Given the description of an element on the screen output the (x, y) to click on. 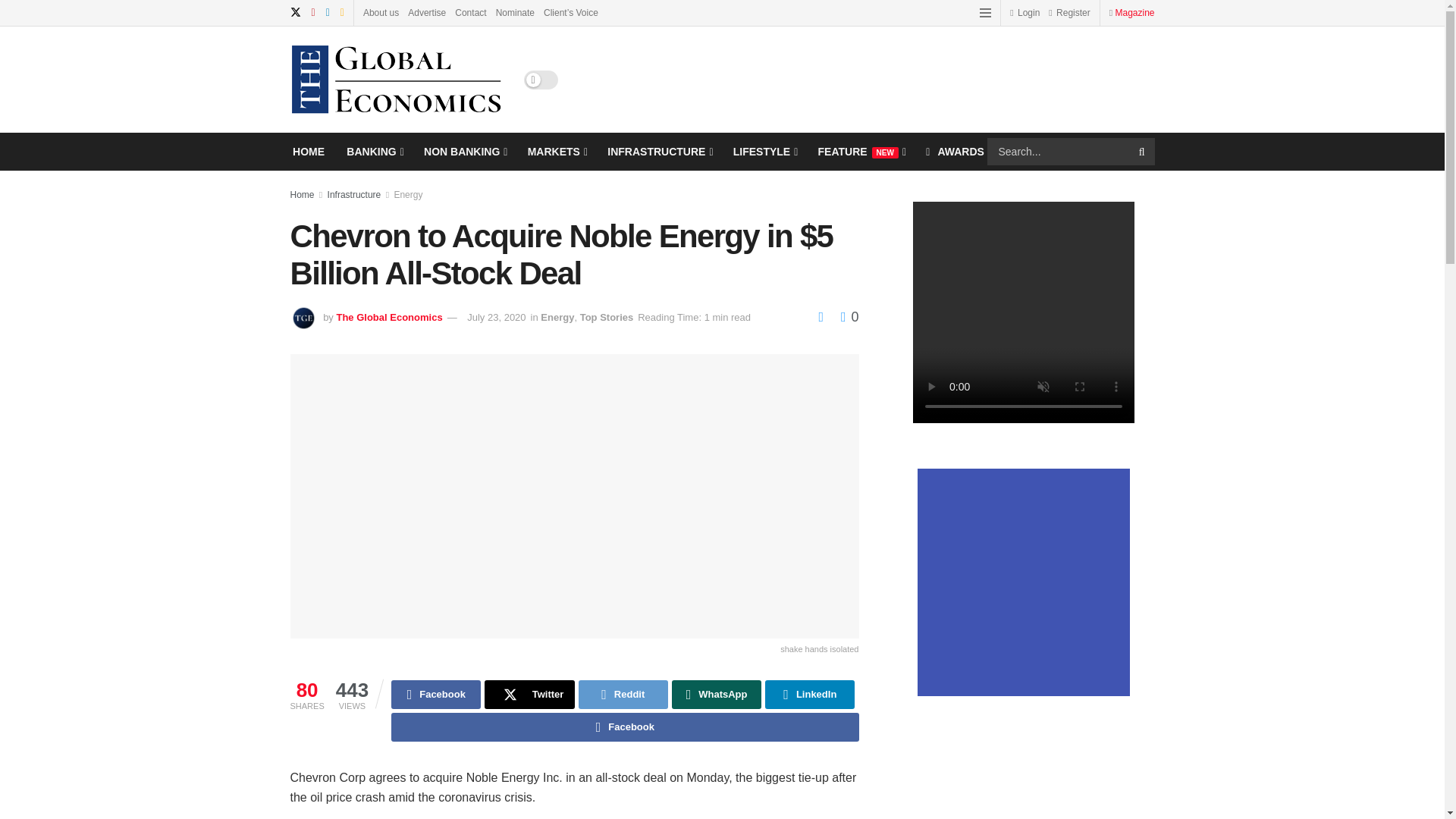
Advertise (426, 12)
Magazine (1134, 12)
Login (1024, 12)
Infrastructure (354, 194)
Home (301, 194)
HOME (308, 151)
NON BANKING (464, 151)
INFRASTRUCTURE (658, 151)
AWARDS (955, 151)
Contact (470, 12)
